Given the description of an element on the screen output the (x, y) to click on. 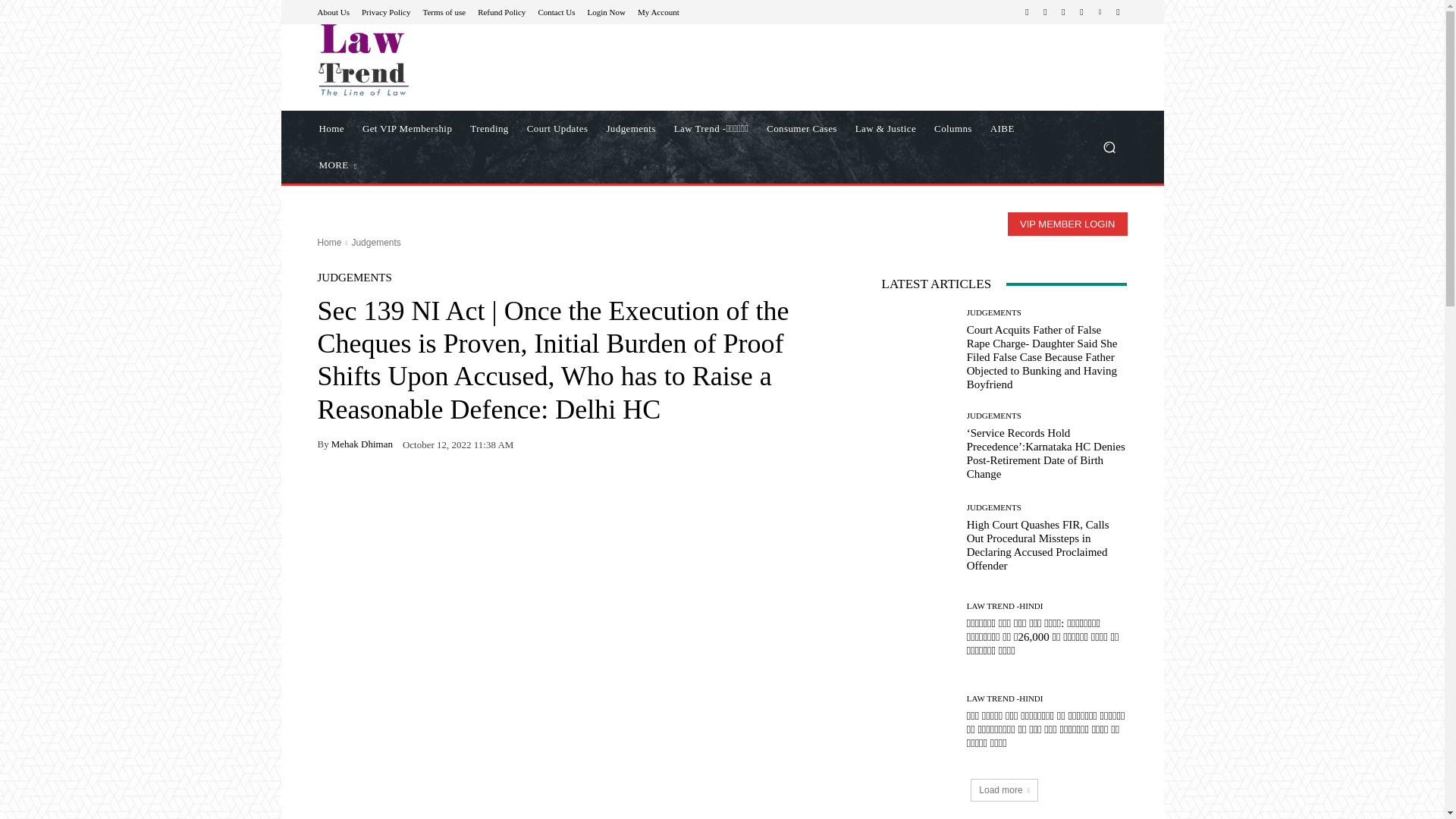
Twitter (1080, 12)
Law Trend- Legal News Website (425, 59)
Terms of use (443, 11)
Facebook (1026, 12)
Instagram (1044, 12)
VIP MEMBER LOGIN (1066, 223)
Login Now (607, 11)
View all posts in Judgements (375, 242)
Privacy Policy (385, 11)
Youtube (1117, 12)
